Given the description of an element on the screen output the (x, y) to click on. 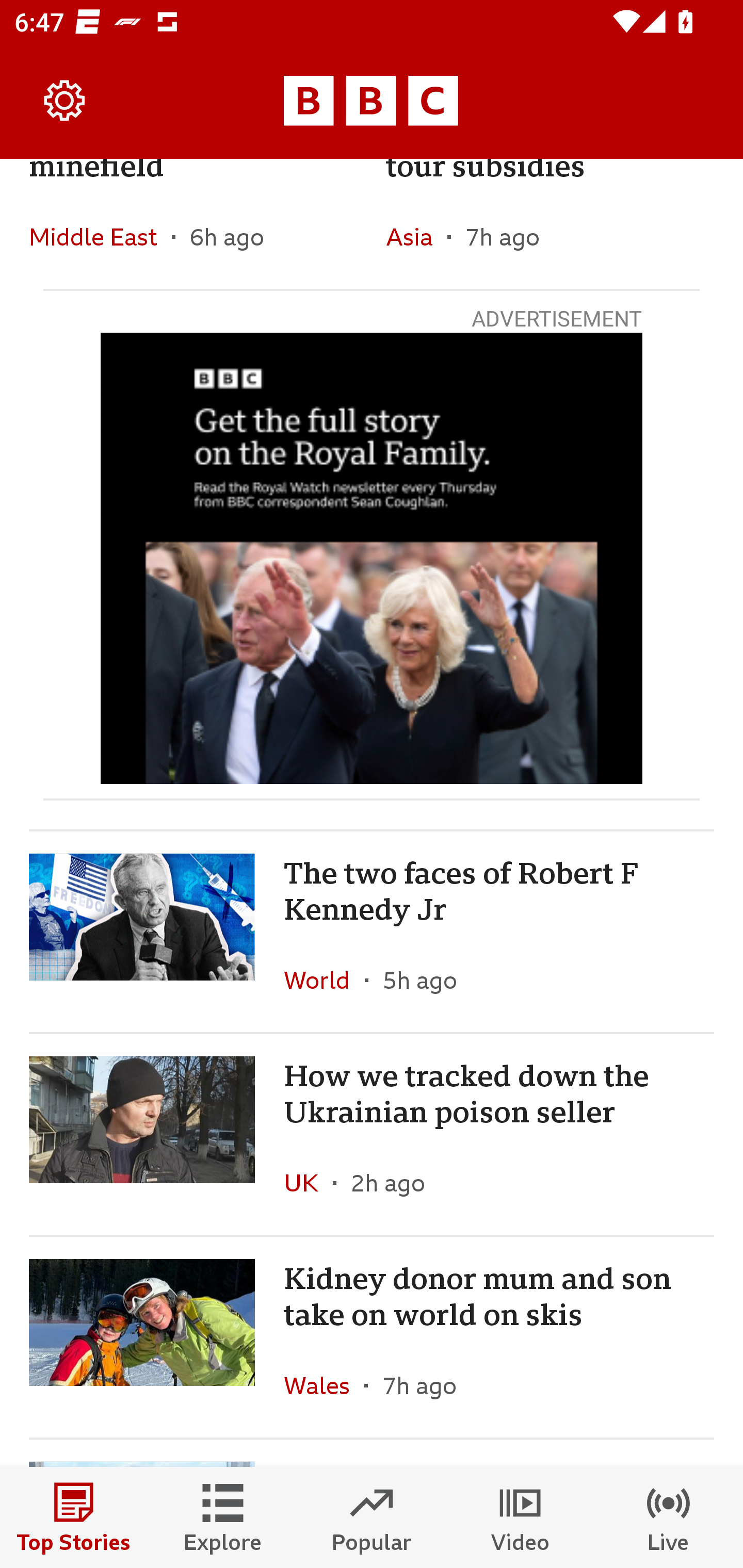
Settings (64, 100)
Middle East In the section Middle East (99, 236)
Asia In the section Asia (416, 236)
World In the section World (323, 979)
UK In the section UK (307, 1182)
Wales In the section Wales (323, 1384)
Explore (222, 1517)
Popular (371, 1517)
Video (519, 1517)
Live (668, 1517)
